Given the description of an element on the screen output the (x, y) to click on. 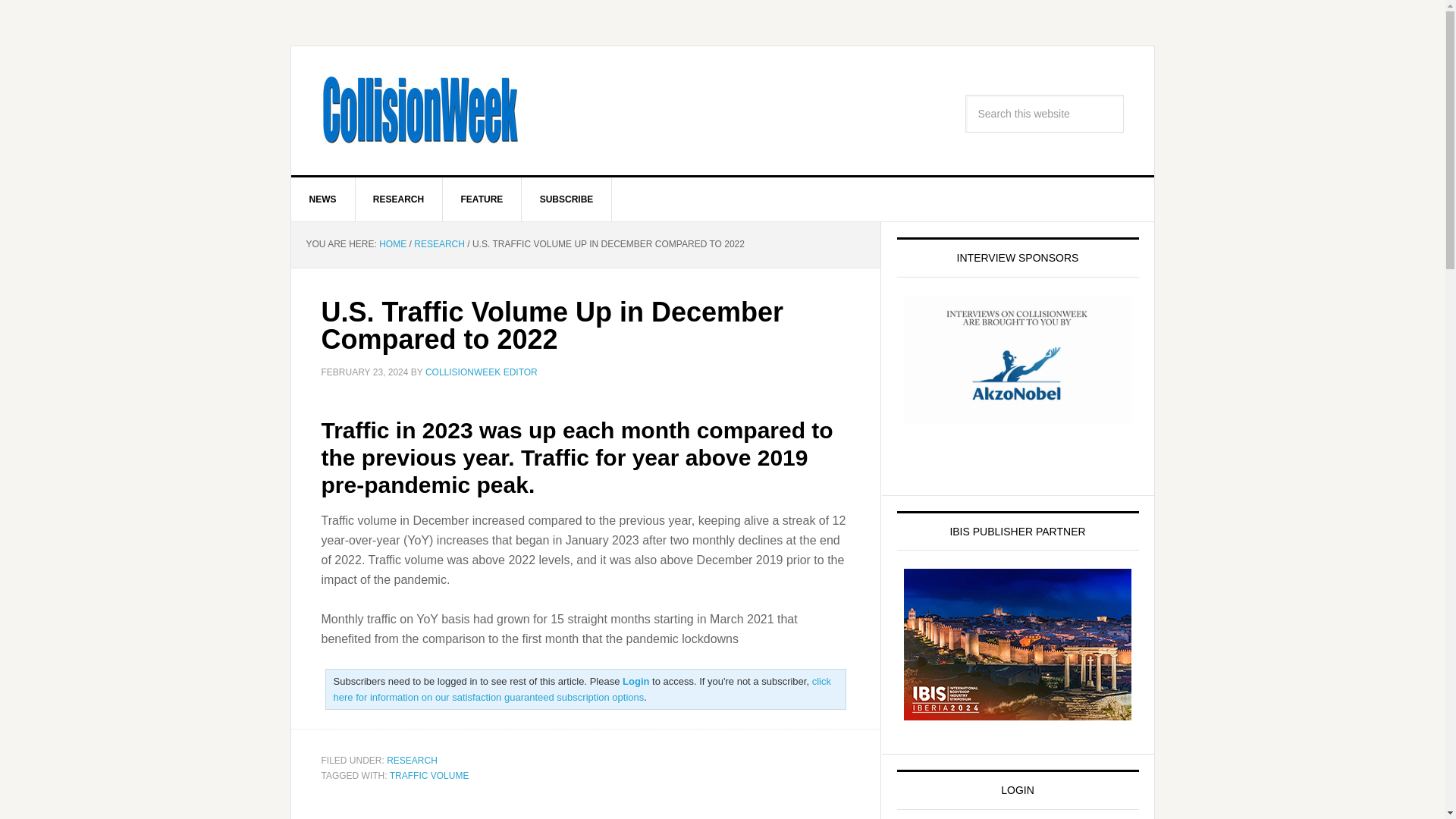
FEATURE (482, 199)
NEWS (323, 199)
COLLISIONWEEK EDITOR (481, 371)
SUBSCRIBE (566, 199)
RESEARCH (412, 760)
HOME (392, 244)
RESEARCH (438, 244)
